Given the description of an element on the screen output the (x, y) to click on. 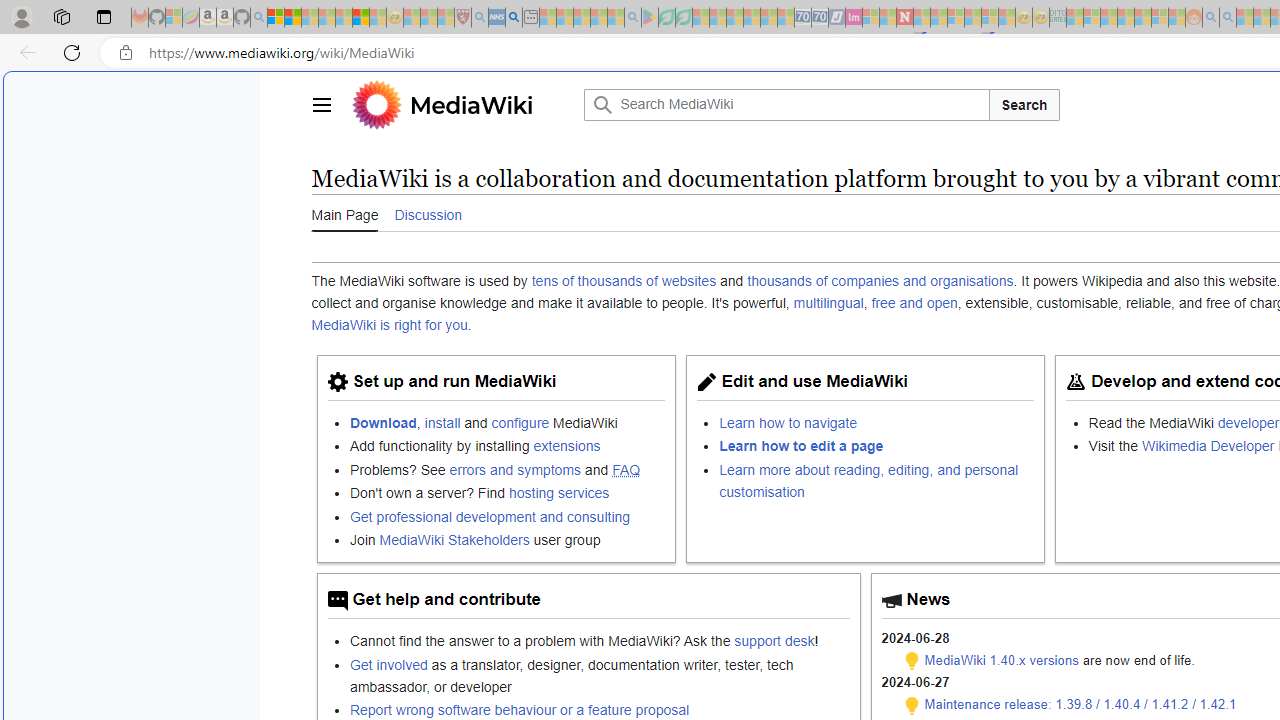
hosting services (559, 493)
install (441, 422)
free and open (913, 303)
Learn how to navigate (788, 422)
